Given the description of an element on the screen output the (x, y) to click on. 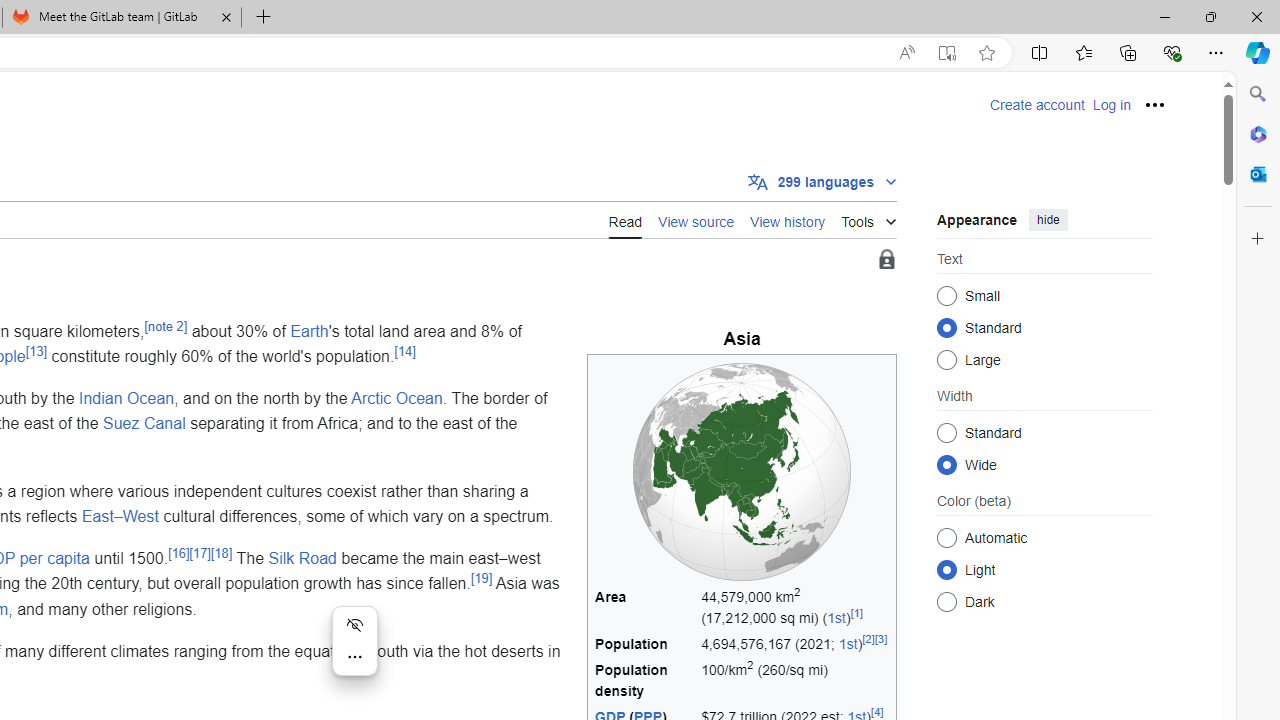
More actions (354, 656)
Earth (309, 330)
View source (695, 219)
Enter Immersive Reader (F9) (946, 53)
1st (847, 643)
[19] (480, 578)
View history (787, 219)
[3] (881, 638)
Small (946, 295)
Mini menu on text selection (354, 640)
